Given the description of an element on the screen output the (x, y) to click on. 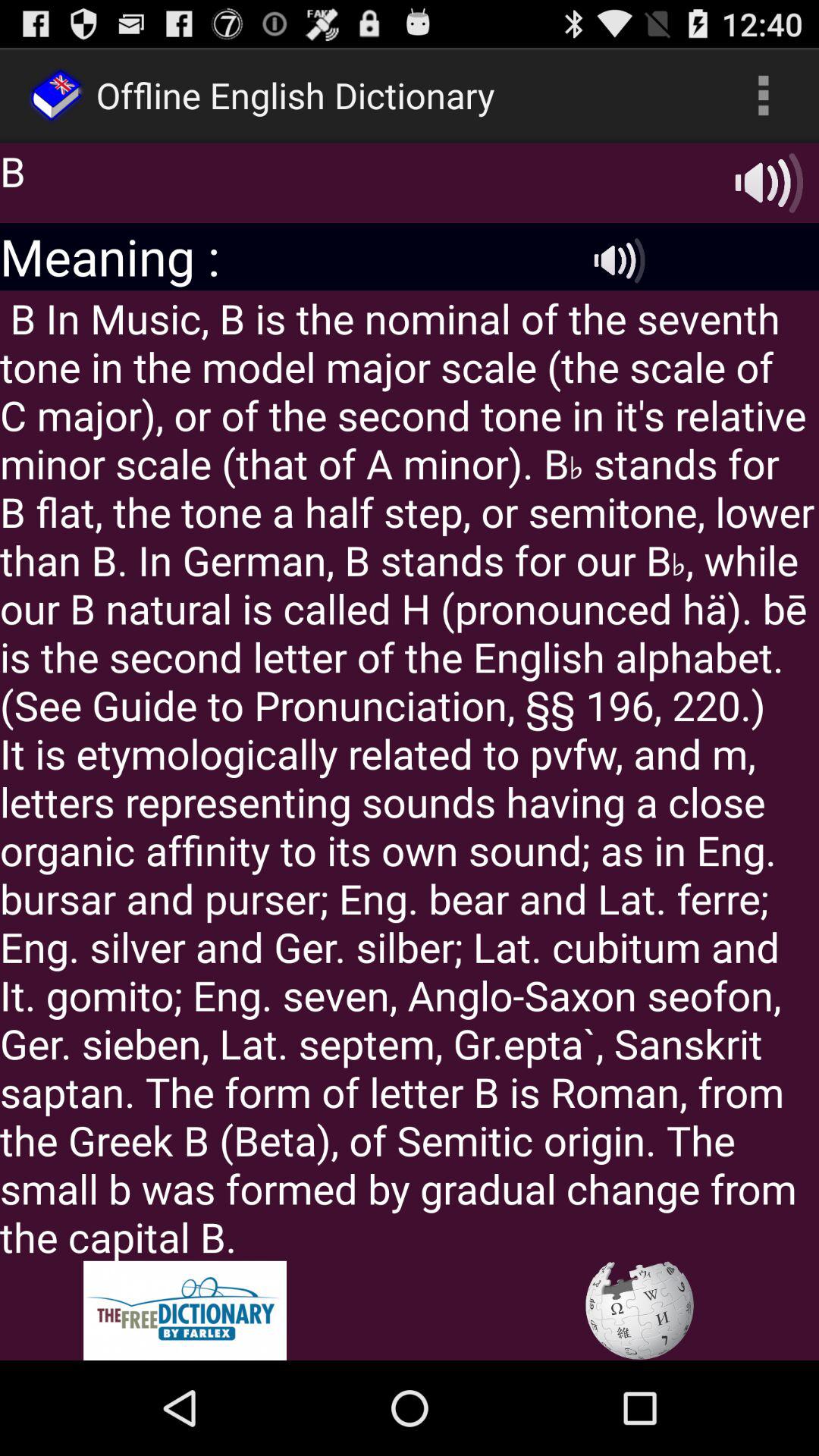
tap item above the b icon (763, 95)
